Given the description of an element on the screen output the (x, y) to click on. 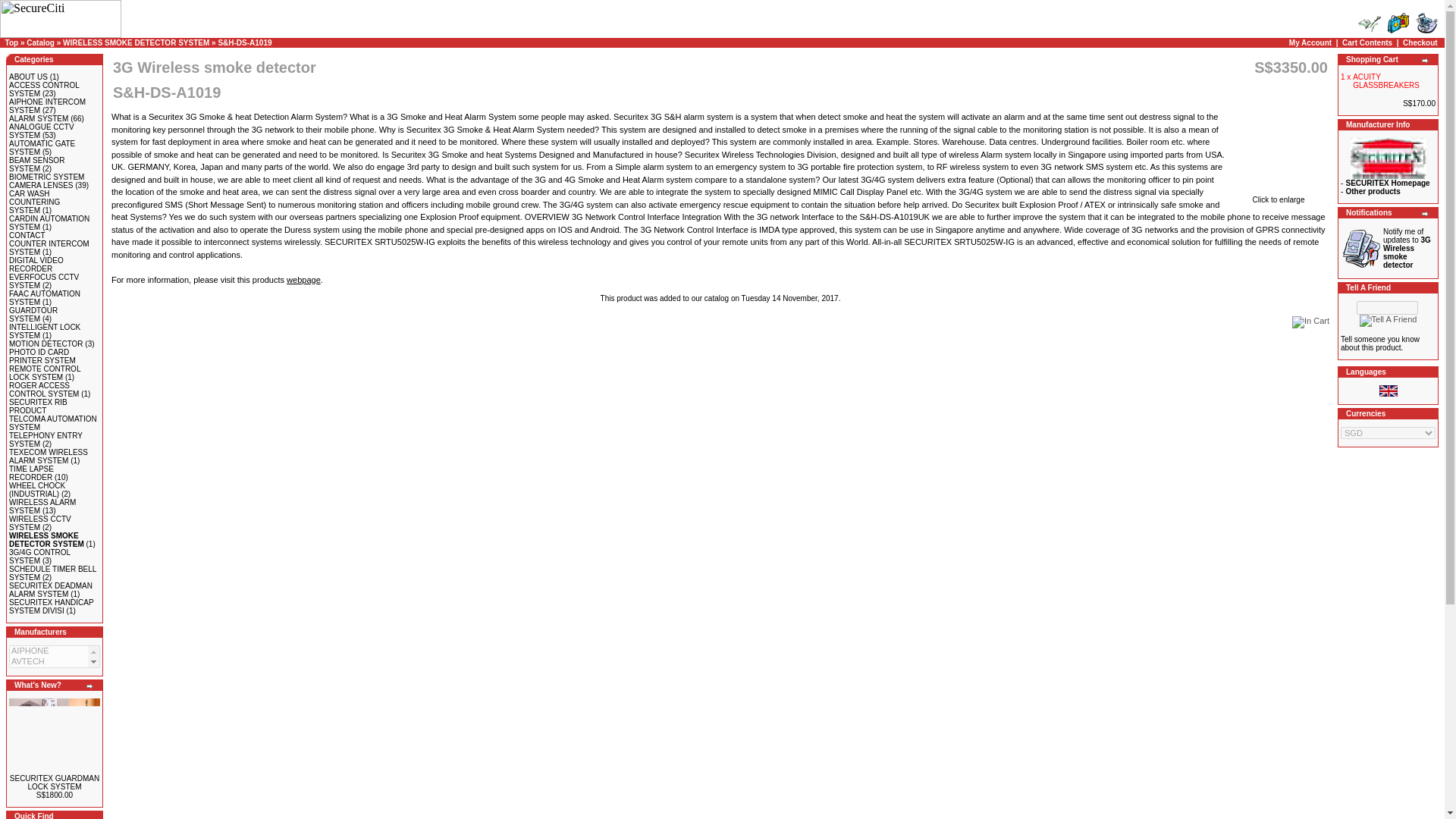
ANALOGUE CCTV SYSTEM (41, 130)
 more  (1425, 60)
TELCOMA AUTOMATION SYSTEM (52, 422)
 SECURITEX GUARDMAN LOCK SYSTEM  (54, 735)
CARDIN AUTOMATION SYSTEM (48, 222)
 Cart Contents  (1398, 23)
My Account (1310, 42)
CONTACT (26, 234)
AUTOMATIC GATE SYSTEM (41, 147)
TIME LAPSE RECORDER (30, 473)
WIRELESS ALARM SYSTEM (41, 506)
ALARM SYSTEM (38, 118)
AIPHONE INTERCOM SYSTEM (46, 105)
ACCESS CONTROL SYSTEM (43, 89)
TEXECOM WIRELESS ALARM SYSTEM (47, 456)
